Given the description of an element on the screen output the (x, y) to click on. 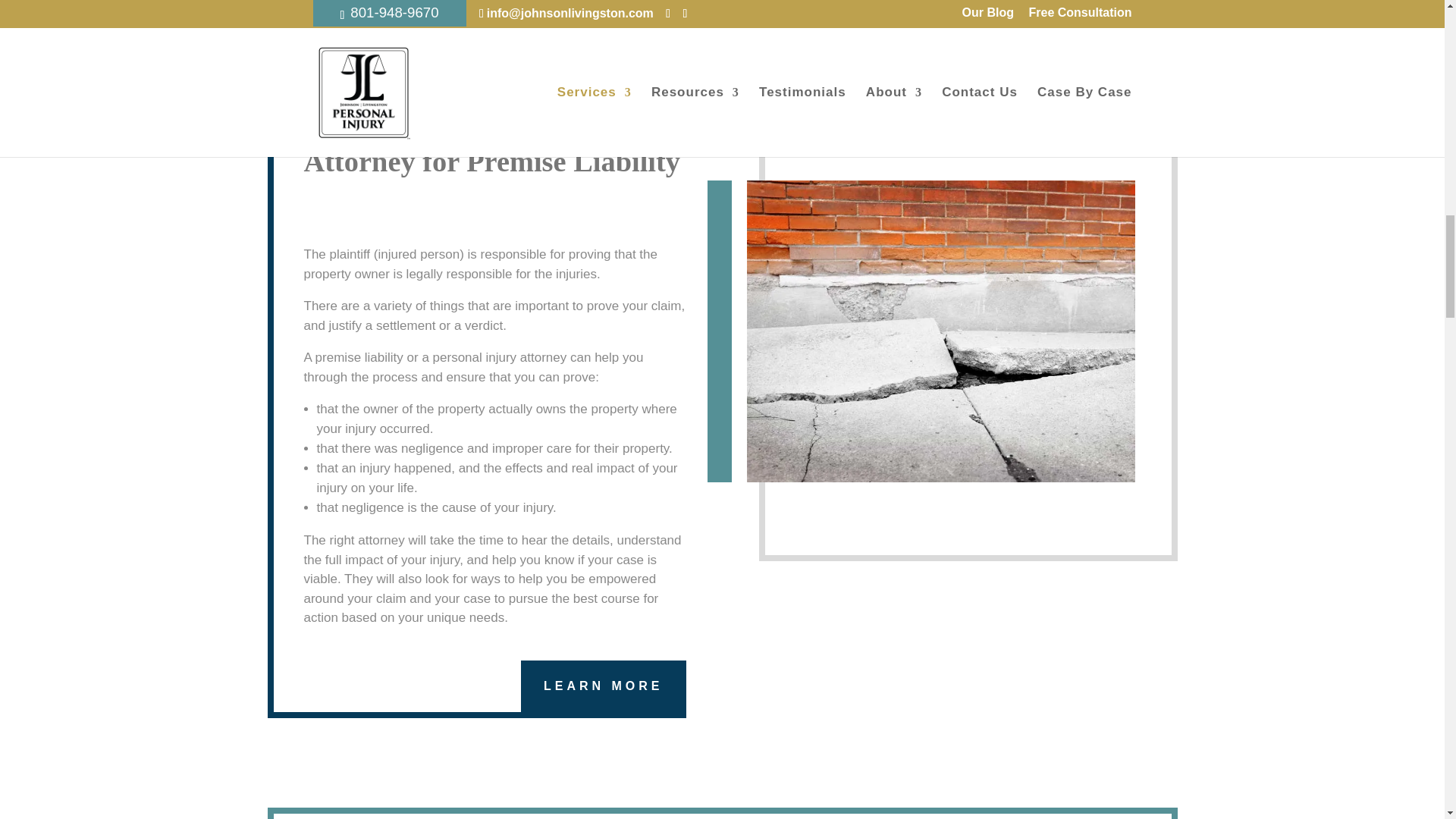
why-would-you-need-an-attorney-for-premise-liability-1 (940, 331)
